Given the description of an element on the screen output the (x, y) to click on. 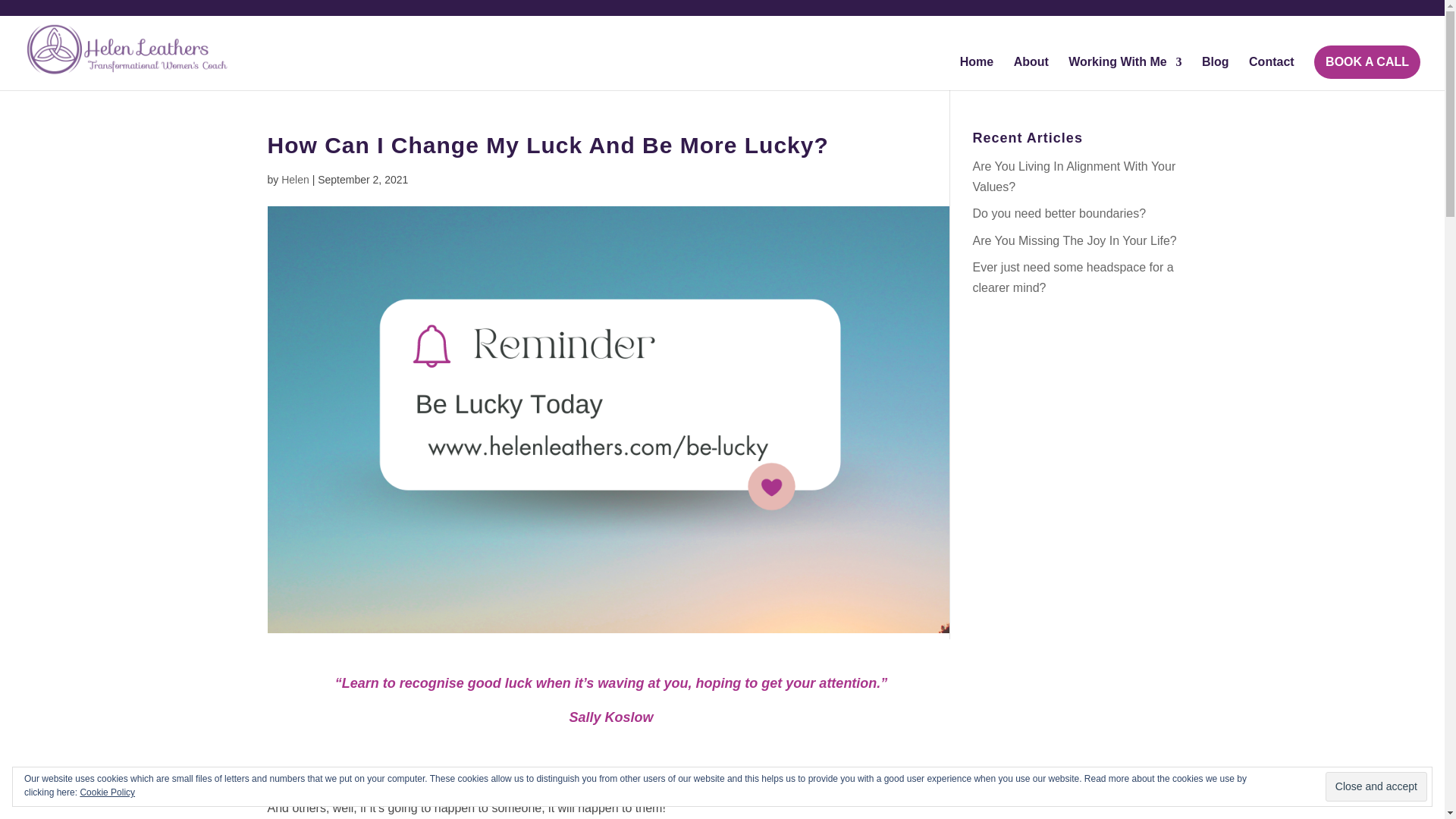
Helen (294, 179)
Do you need better boundaries? (1058, 213)
Home (975, 73)
BOOK A CALL (1367, 61)
Are You Missing The Joy In Your Life? (1074, 240)
Are You Living In Alignment With Your Values? (1073, 176)
Posts by Helen (294, 179)
Close and accept (1375, 786)
About (1030, 73)
Contact (1271, 73)
